Given the description of an element on the screen output the (x, y) to click on. 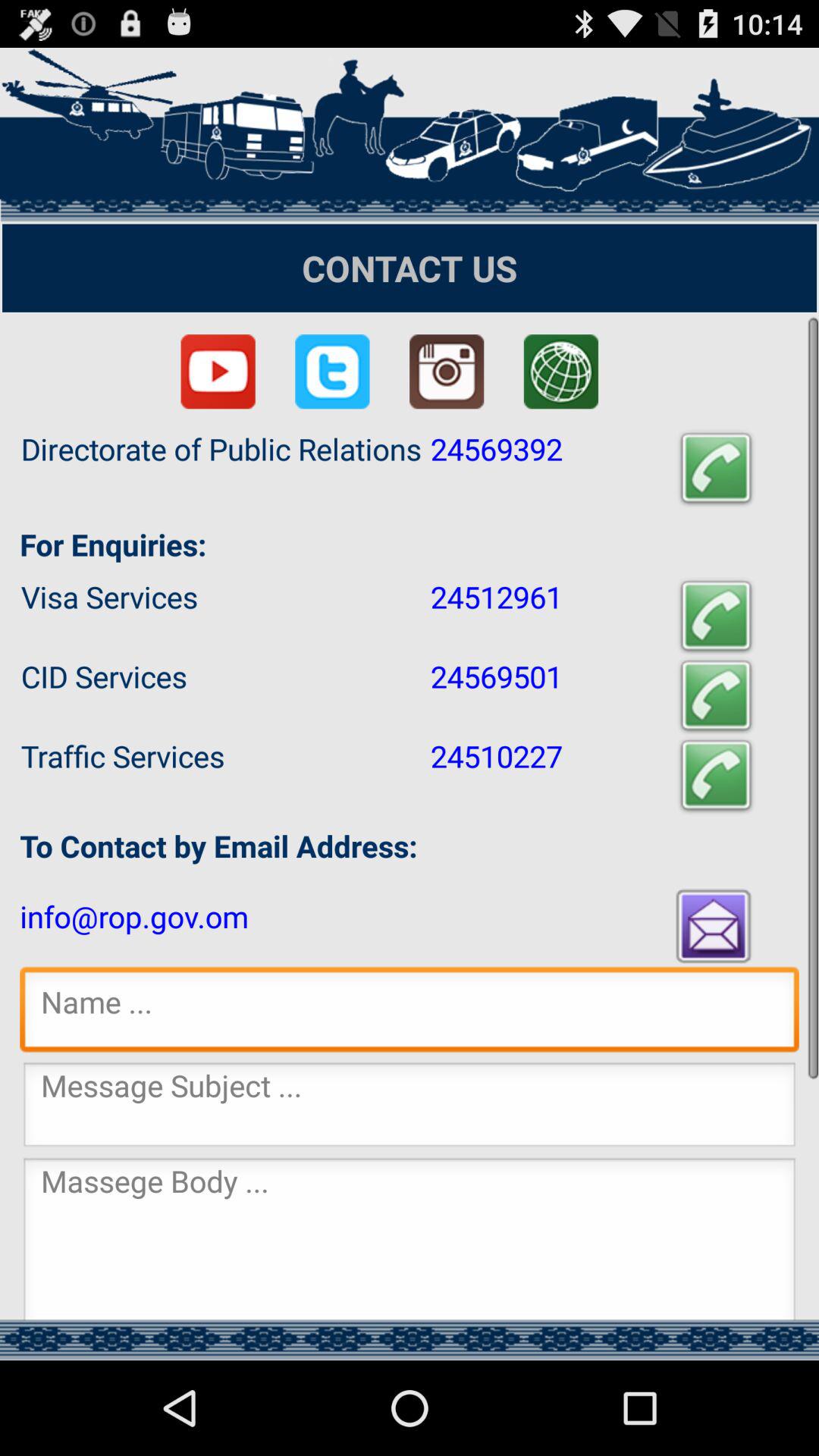
call button (716, 775)
